Given the description of an element on the screen output the (x, y) to click on. 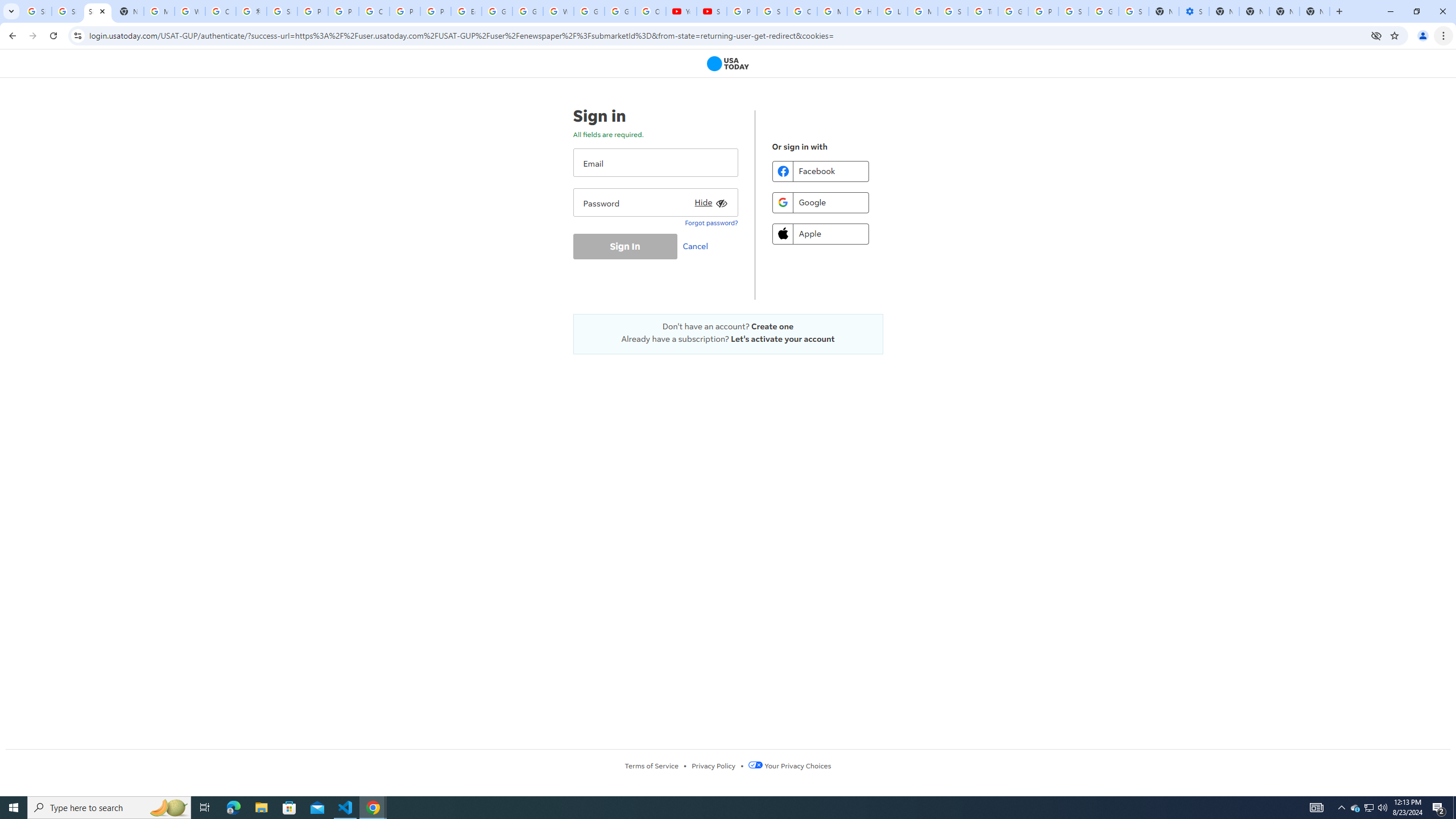
Account Username (655, 162)
New Tab (1338, 11)
Edit and view right-to-left text - Google Docs Editors Help (465, 11)
Google Cybersecurity Innovations - Google Safety Center (1103, 11)
Sign In (624, 246)
Third-party cookies blocked (1376, 35)
Already have a subscription? Let's activate your account (727, 338)
Sign in - Google Accounts (1072, 11)
